Given the description of an element on the screen output the (x, y) to click on. 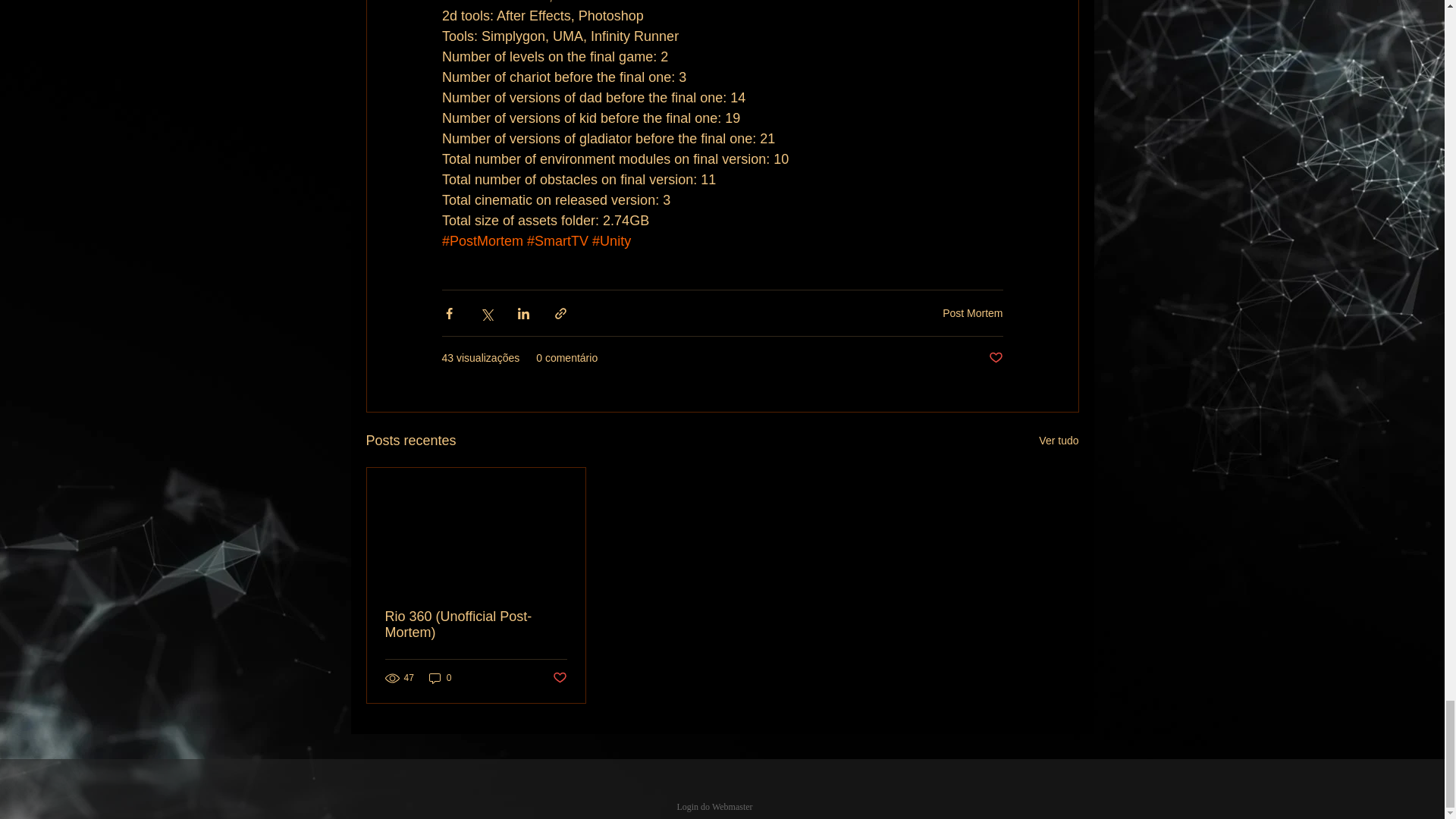
Login do Webmaster (714, 806)
0 (440, 677)
Ver tudo (1058, 440)
Post Mortem (972, 313)
